Given the description of an element on the screen output the (x, y) to click on. 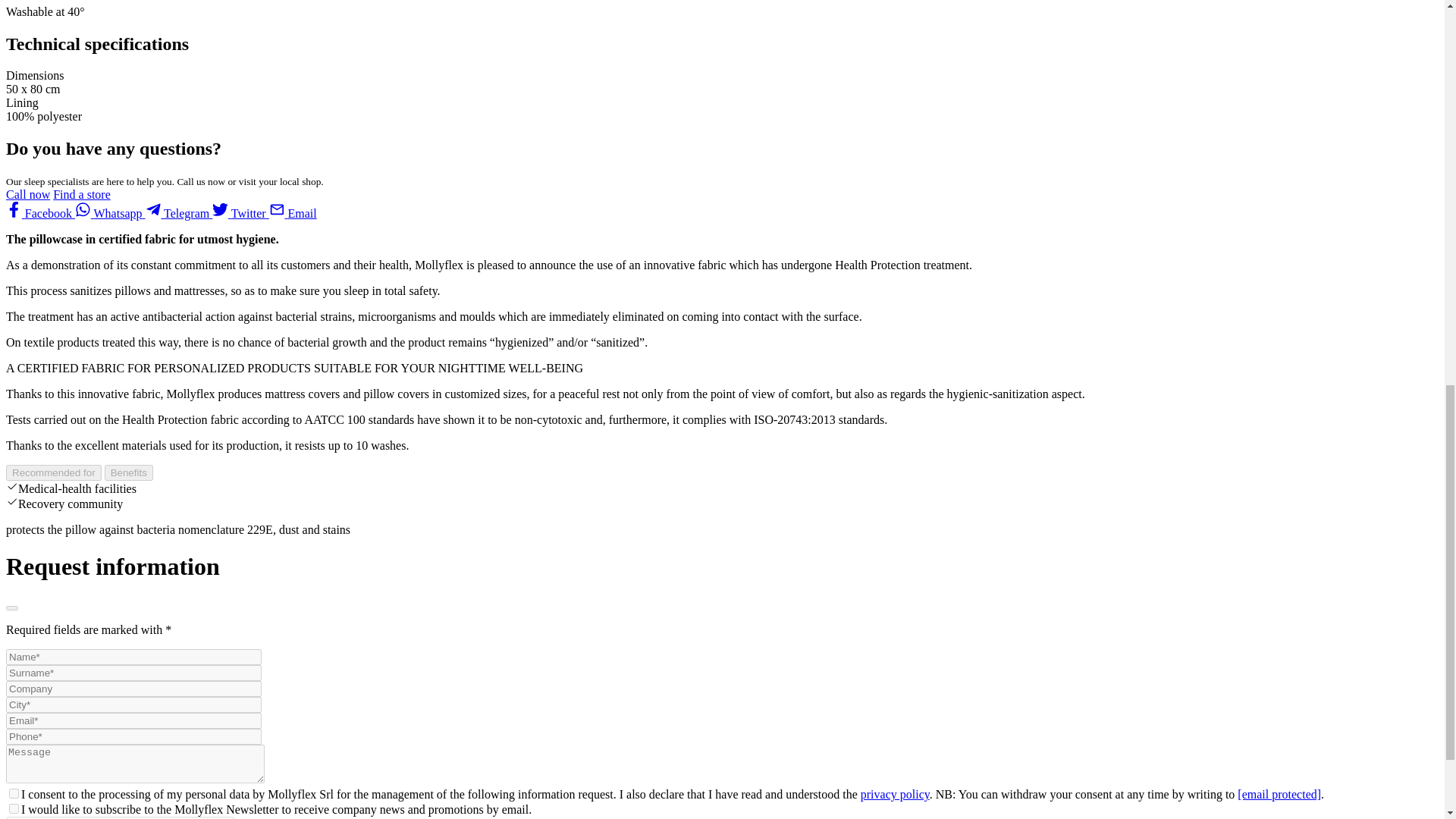
1 (13, 793)
Stores (81, 194)
Share via Email (293, 213)
Call now (27, 194)
Share on Twitter (240, 213)
Share on Facebook (40, 213)
Share on Whatsapp (110, 213)
1 (13, 808)
Share on Telegram (178, 213)
